Given the description of an element on the screen output the (x, y) to click on. 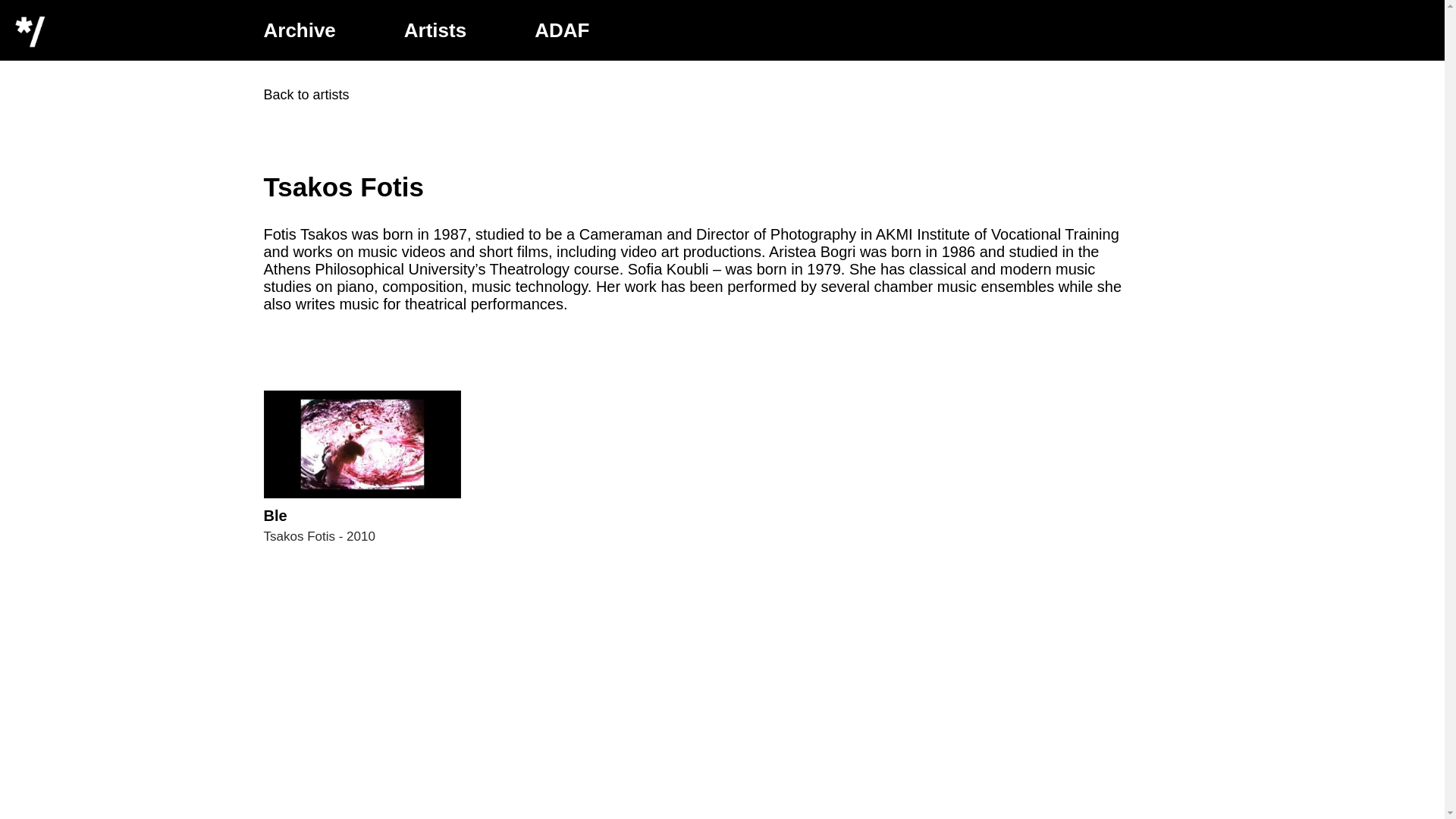
ADAF (561, 30)
Back to artists (306, 94)
Archive (299, 30)
Artists (362, 466)
